Given the description of an element on the screen output the (x, y) to click on. 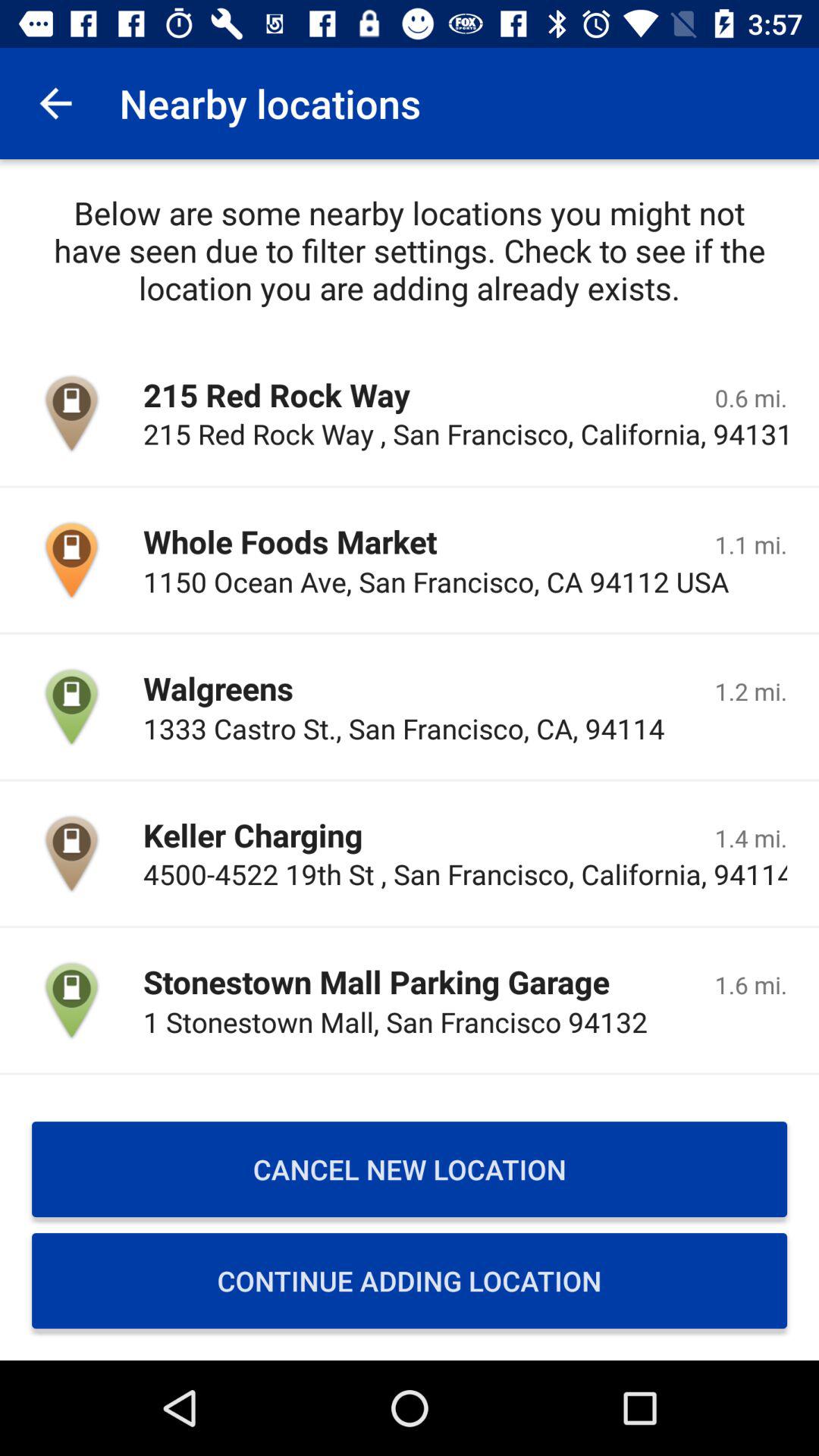
click on icon on the left side of whole foods market (71, 559)
click on continue adding location (409, 1281)
